Given the description of an element on the screen output the (x, y) to click on. 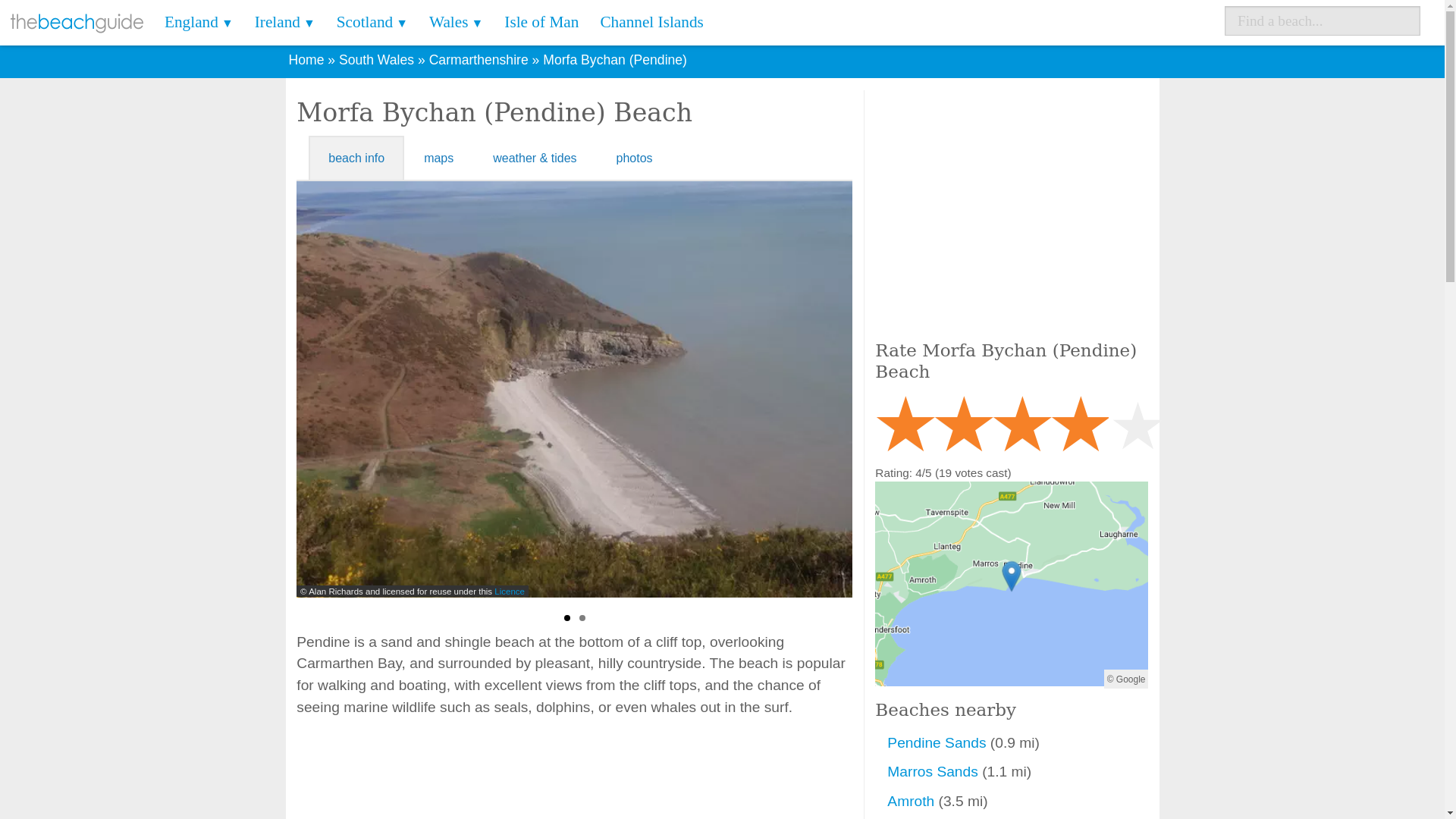
maps (438, 157)
Pendine Sands (938, 742)
photos (634, 157)
Channel Islands (651, 22)
Marros Sands (933, 771)
Isle of Man (541, 22)
South Wales (376, 59)
beach info (356, 157)
Amroth (911, 801)
Licence (509, 590)
Carmarthenshire (478, 59)
Licence (1082, 590)
Home (305, 59)
